Given the description of an element on the screen output the (x, y) to click on. 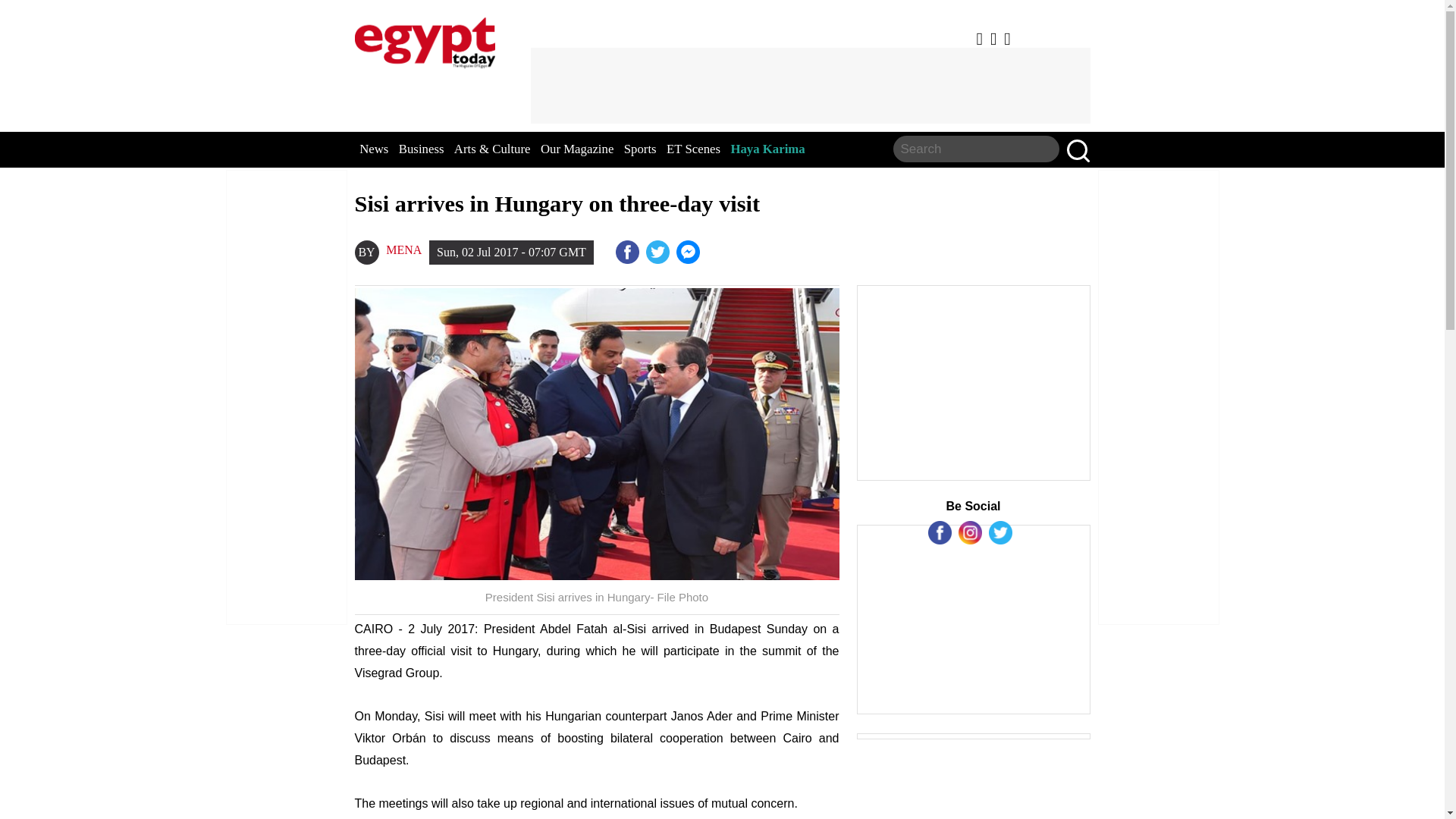
ET Scenes (693, 149)
Our Magazine (576, 149)
Haya Karima (767, 149)
MENA (403, 250)
Sports (640, 149)
Business (421, 149)
EgyptToday (425, 39)
Sisi heads to Guinea first destination in overseas tour (690, 251)
